Given the description of an element on the screen output the (x, y) to click on. 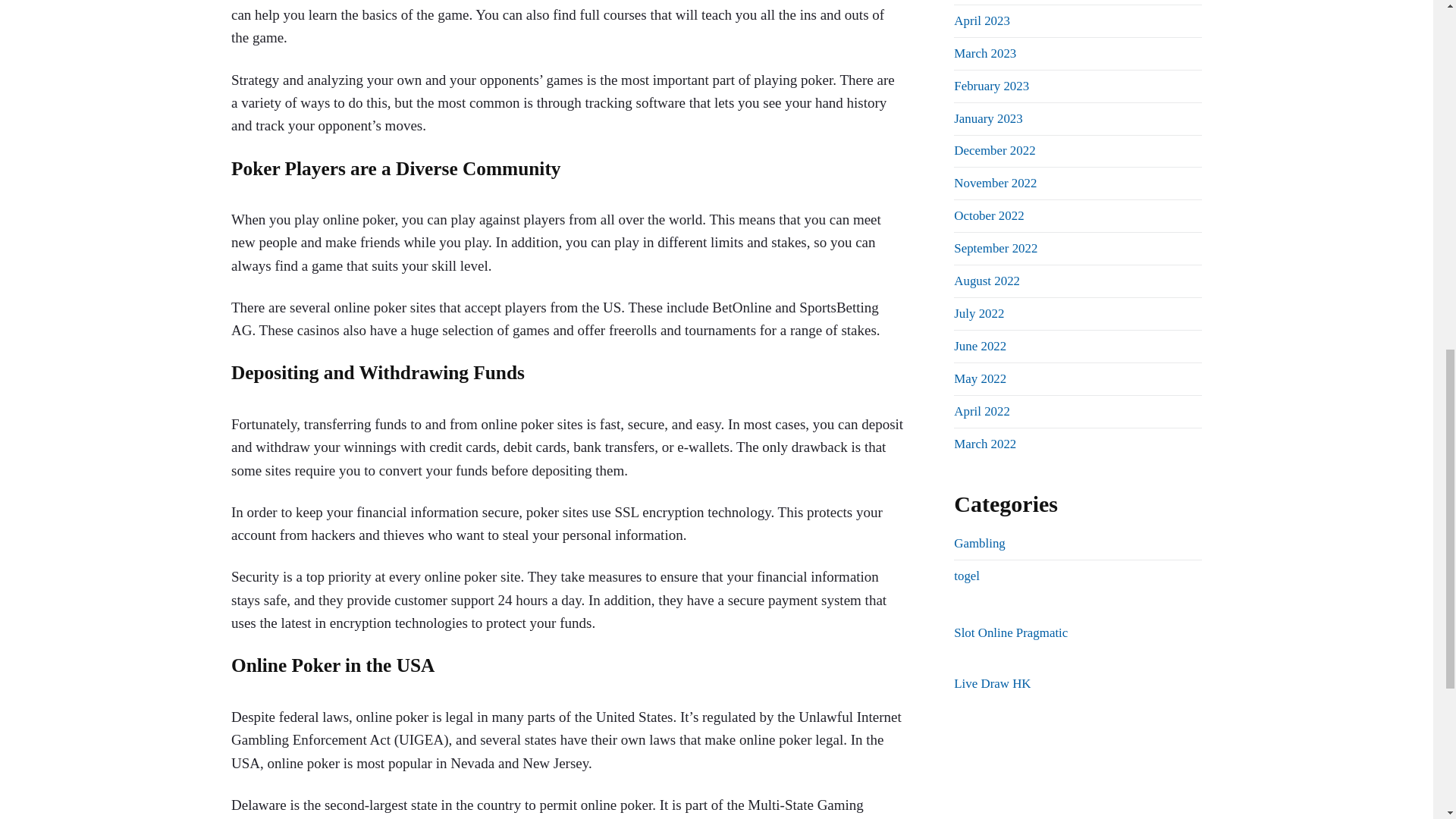
January 2023 (987, 118)
November 2022 (994, 183)
December 2022 (994, 150)
October 2022 (988, 215)
June 2022 (979, 345)
September 2022 (994, 247)
March 2023 (984, 52)
August 2022 (986, 280)
February 2023 (991, 85)
April 2023 (981, 20)
